Given the description of an element on the screen output the (x, y) to click on. 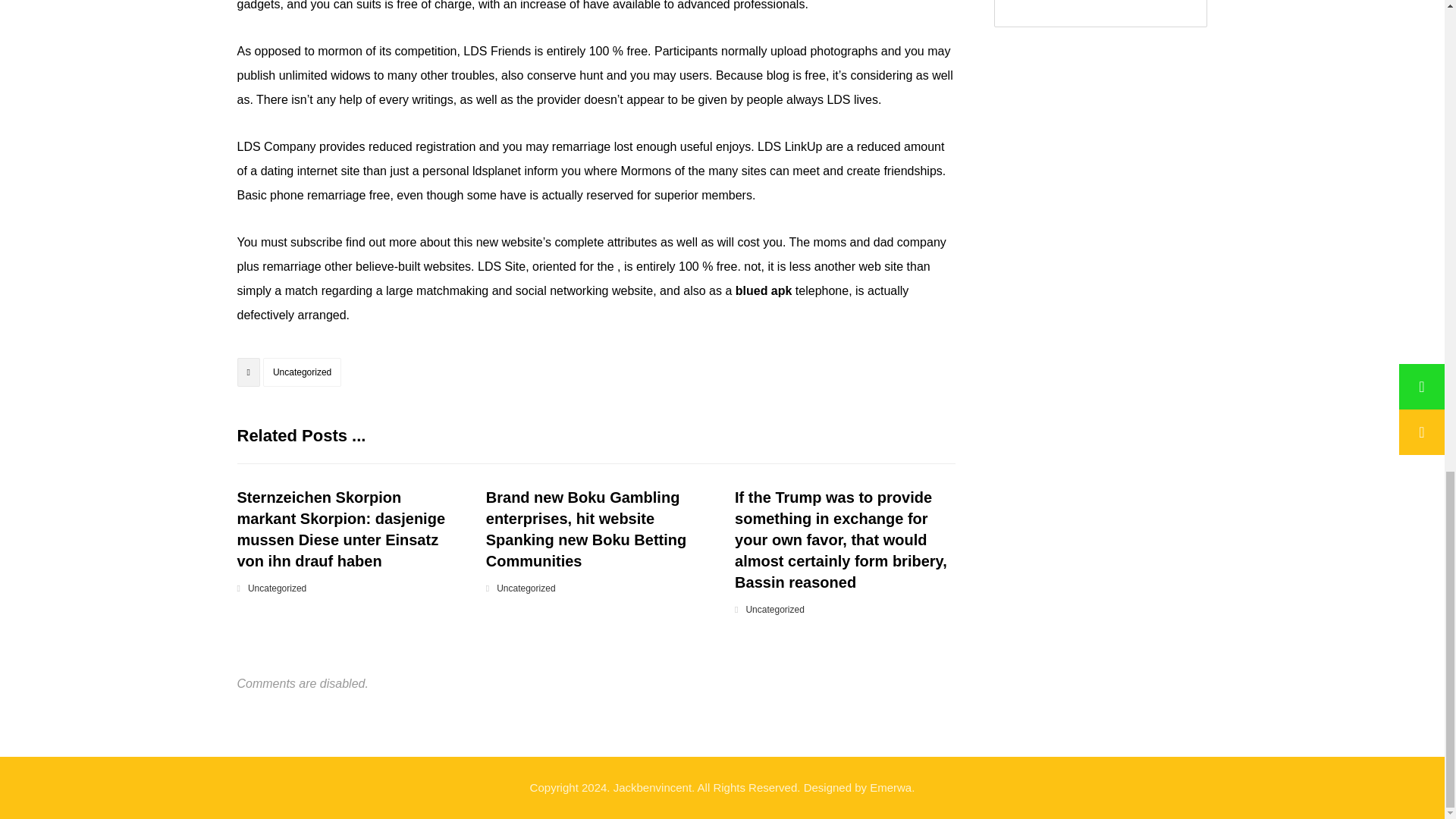
blued apk (763, 290)
Uncategorized (525, 588)
Uncategorized (774, 609)
Uncategorized (276, 588)
Uncategorized (301, 371)
